Given the description of an element on the screen output the (x, y) to click on. 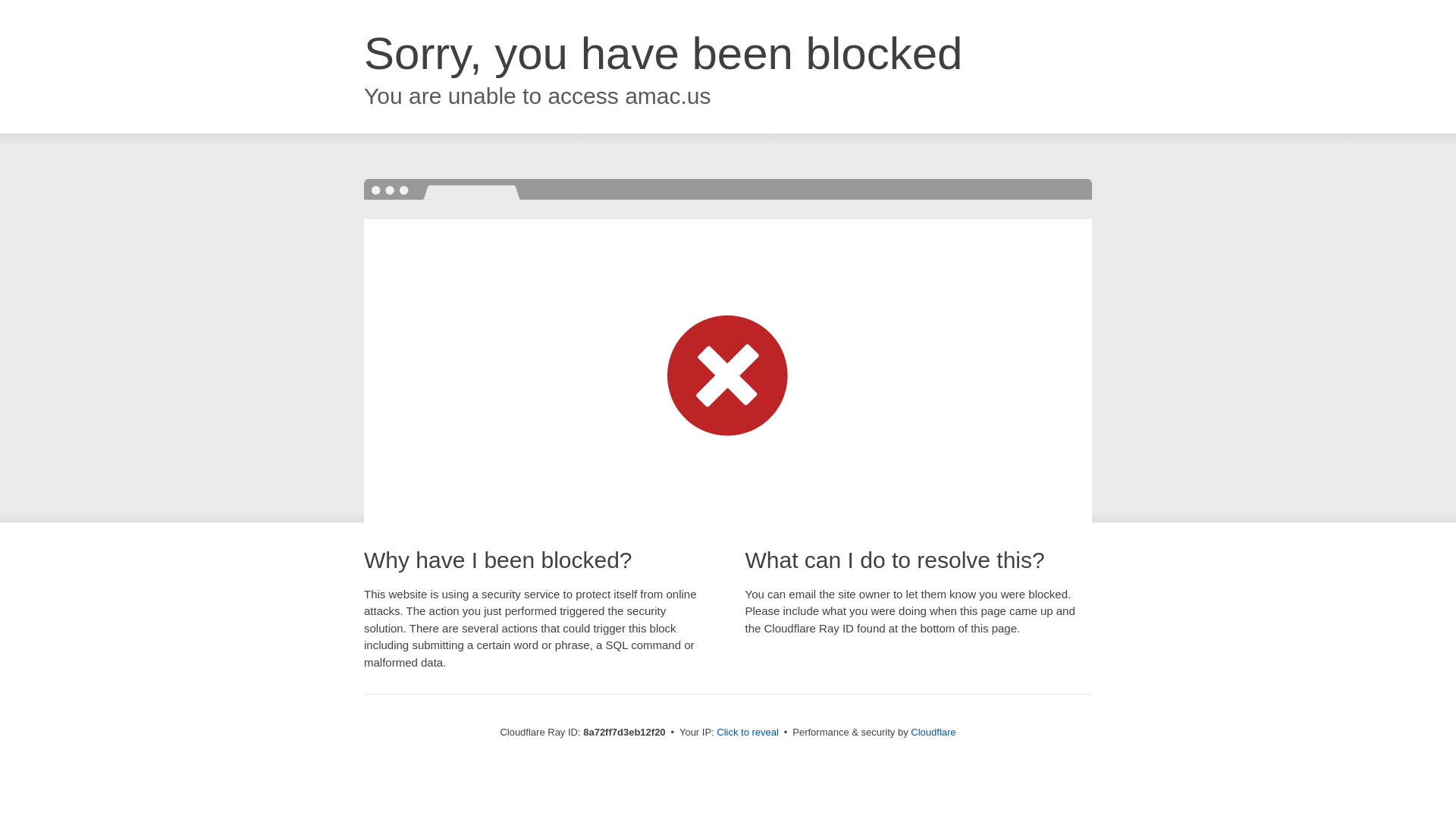
Click to reveal (747, 732)
Cloudflare (933, 731)
